Given the description of an element on the screen output the (x, y) to click on. 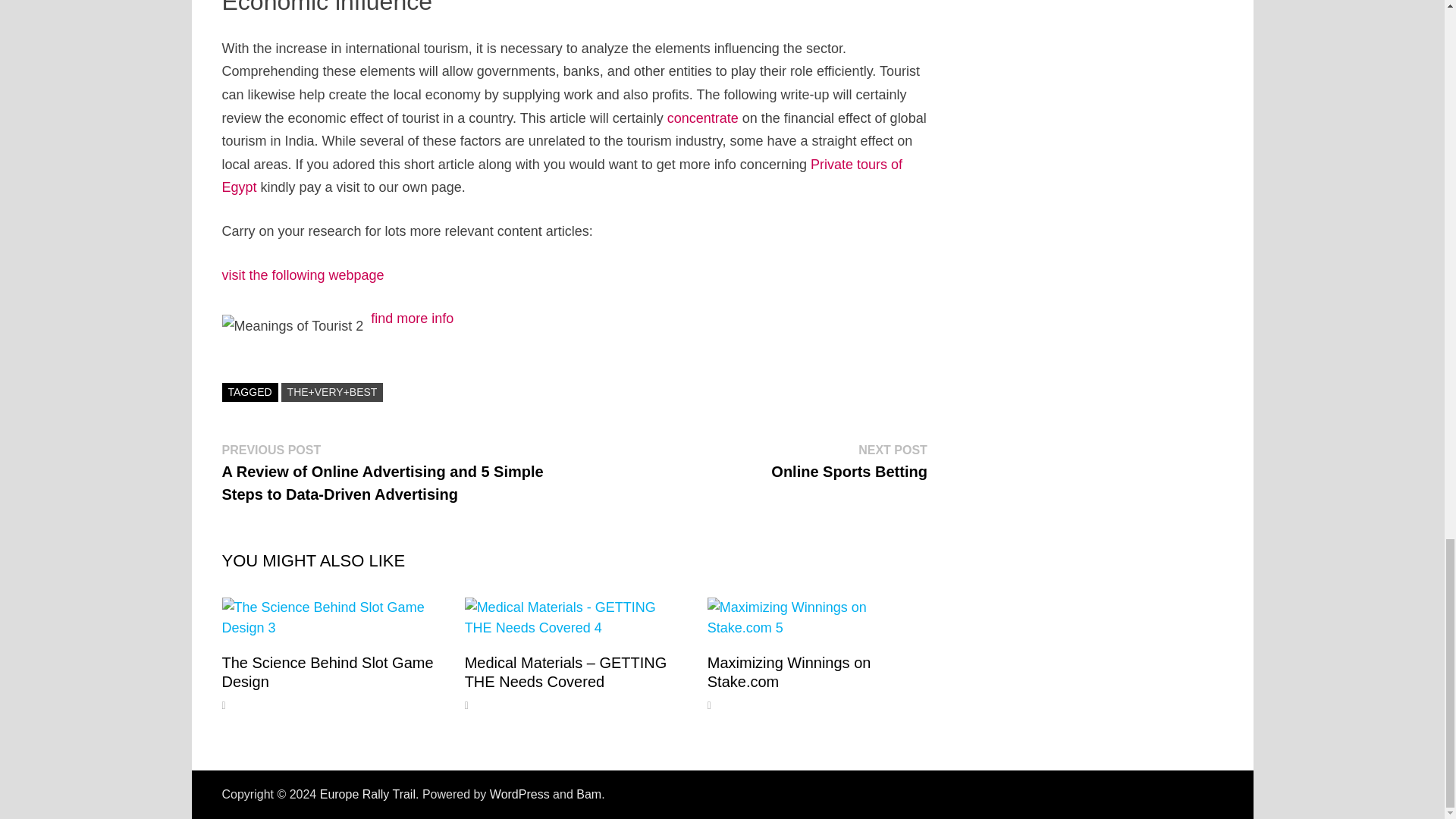
concentrate (849, 460)
find more info (702, 118)
visit the following webpage (411, 318)
The Science Behind Slot Game Design (302, 274)
Europe Rally Trail (326, 672)
Private tours of Egypt (367, 793)
Maximizing Winnings on Stake.com (561, 176)
The Science Behind Slot Game Design (788, 672)
Maximizing Winnings on Stake.com (326, 672)
